Given the description of an element on the screen output the (x, y) to click on. 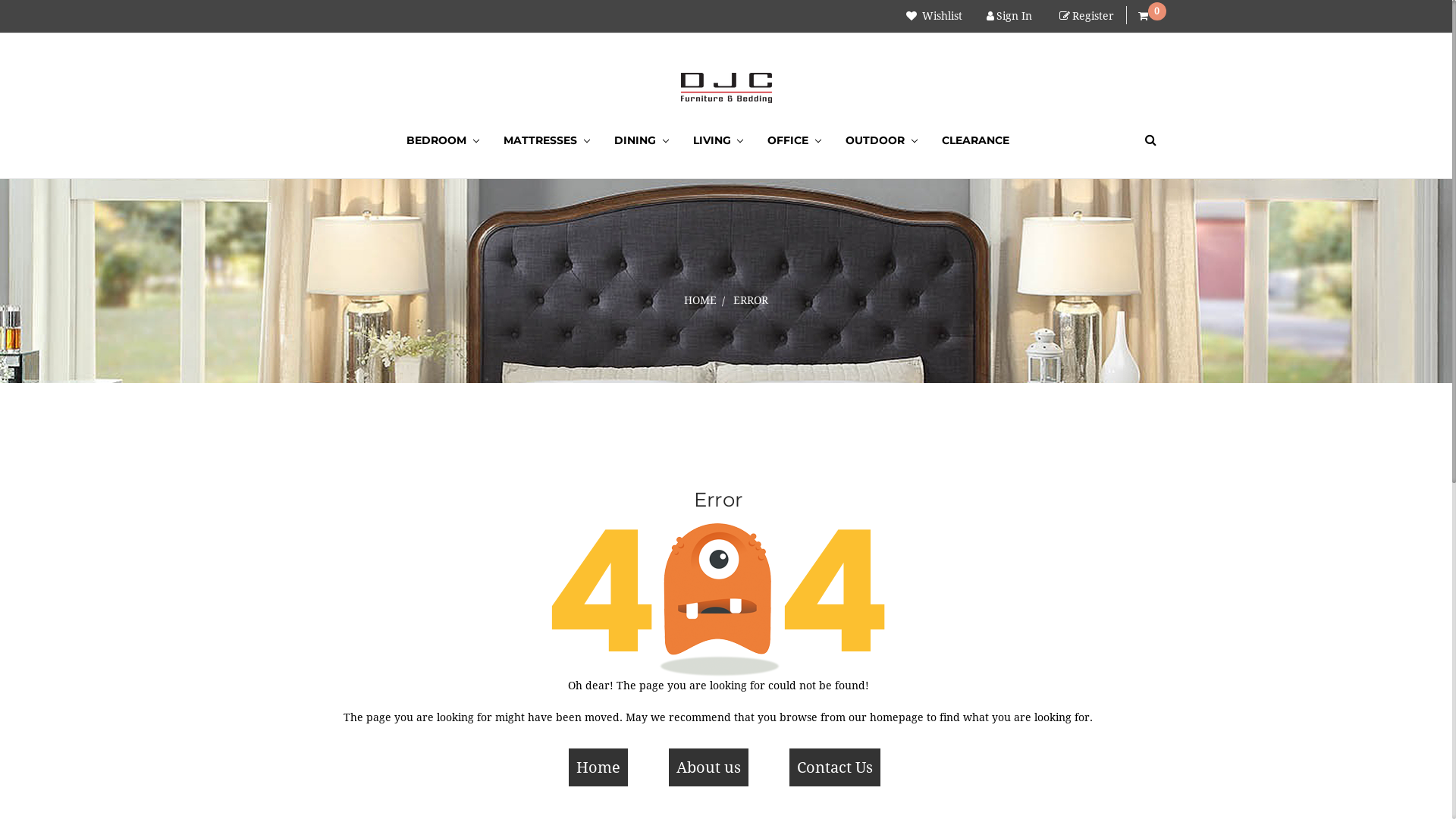
DINING Element type: text (641, 140)
ERROR Element type: text (750, 300)
Register Element type: text (1085, 16)
0 Element type: text (1143, 16)
BEDROOM Element type: text (442, 140)
HOME Element type: text (700, 300)
OUTDOOR Element type: text (881, 140)
HOME Element type: text (700, 436)
LIVING Element type: text (718, 140)
Wishlist Element type: text (933, 16)
Contact Us Element type: text (834, 767)
DJC Element type: hover (725, 87)
MATTRESSES Element type: text (546, 140)
About us Element type: text (708, 767)
Home Element type: text (598, 767)
ERROR Element type: text (750, 436)
OFFICE Element type: text (794, 140)
CLEARANCE Element type: text (975, 140)
Sign In Element type: text (1008, 16)
